Given the description of an element on the screen output the (x, y) to click on. 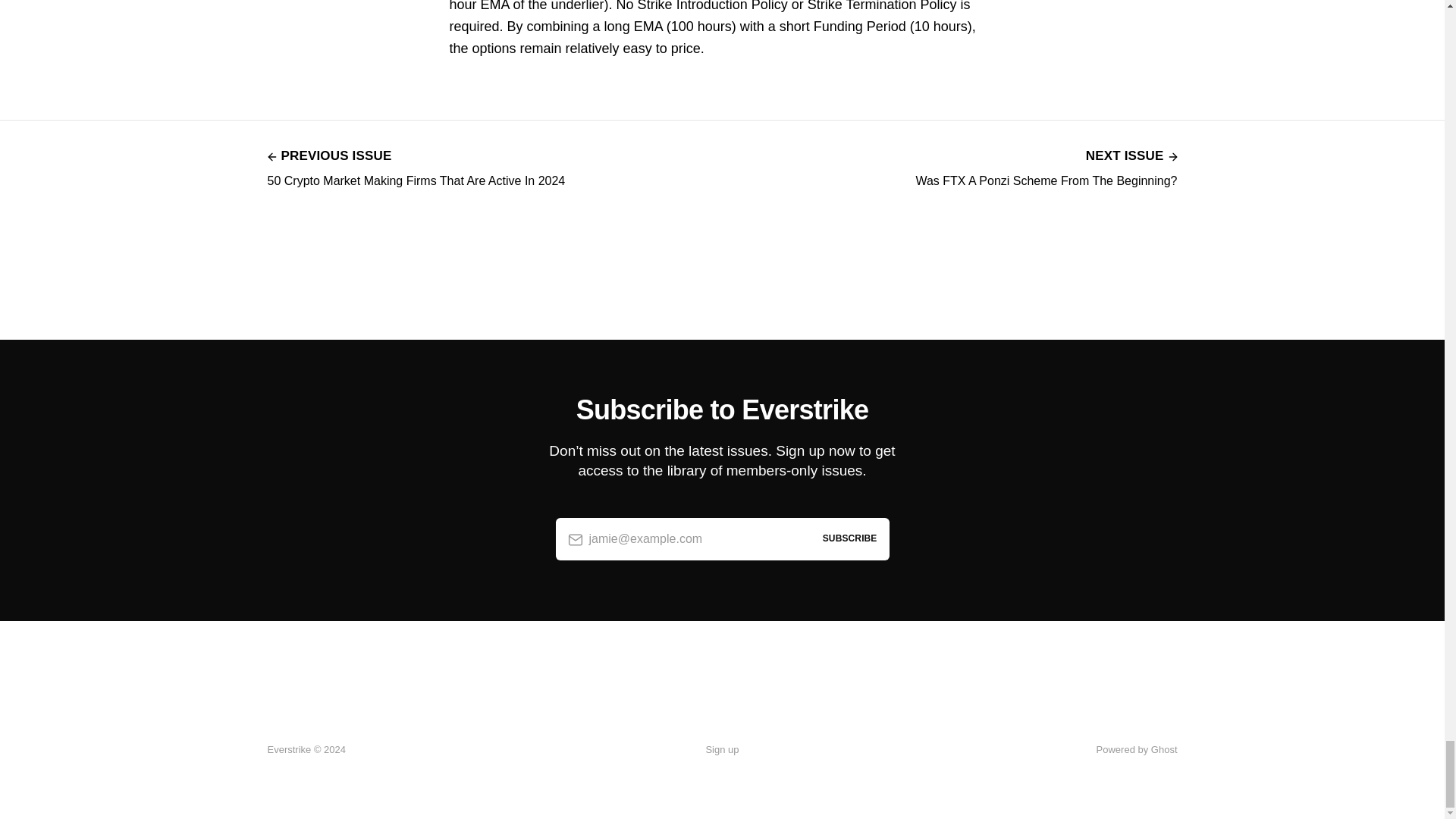
Sign up (721, 750)
Powered by Ghost (1045, 166)
